Given the description of an element on the screen output the (x, y) to click on. 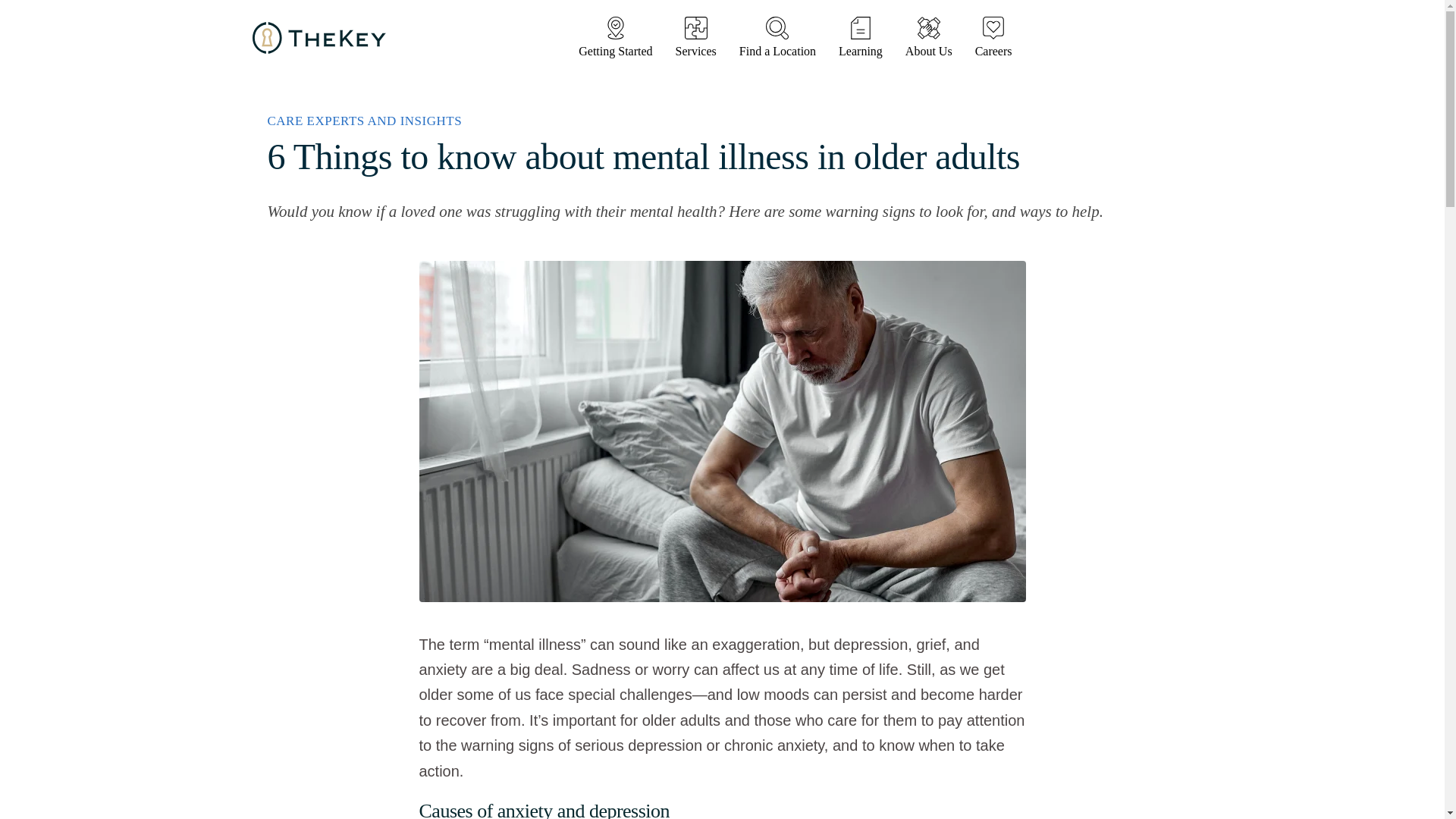
Getting Started (615, 37)
Find a Location (777, 37)
CARE EXPERTS AND INSIGHTS (363, 120)
